Given the description of an element on the screen output the (x, y) to click on. 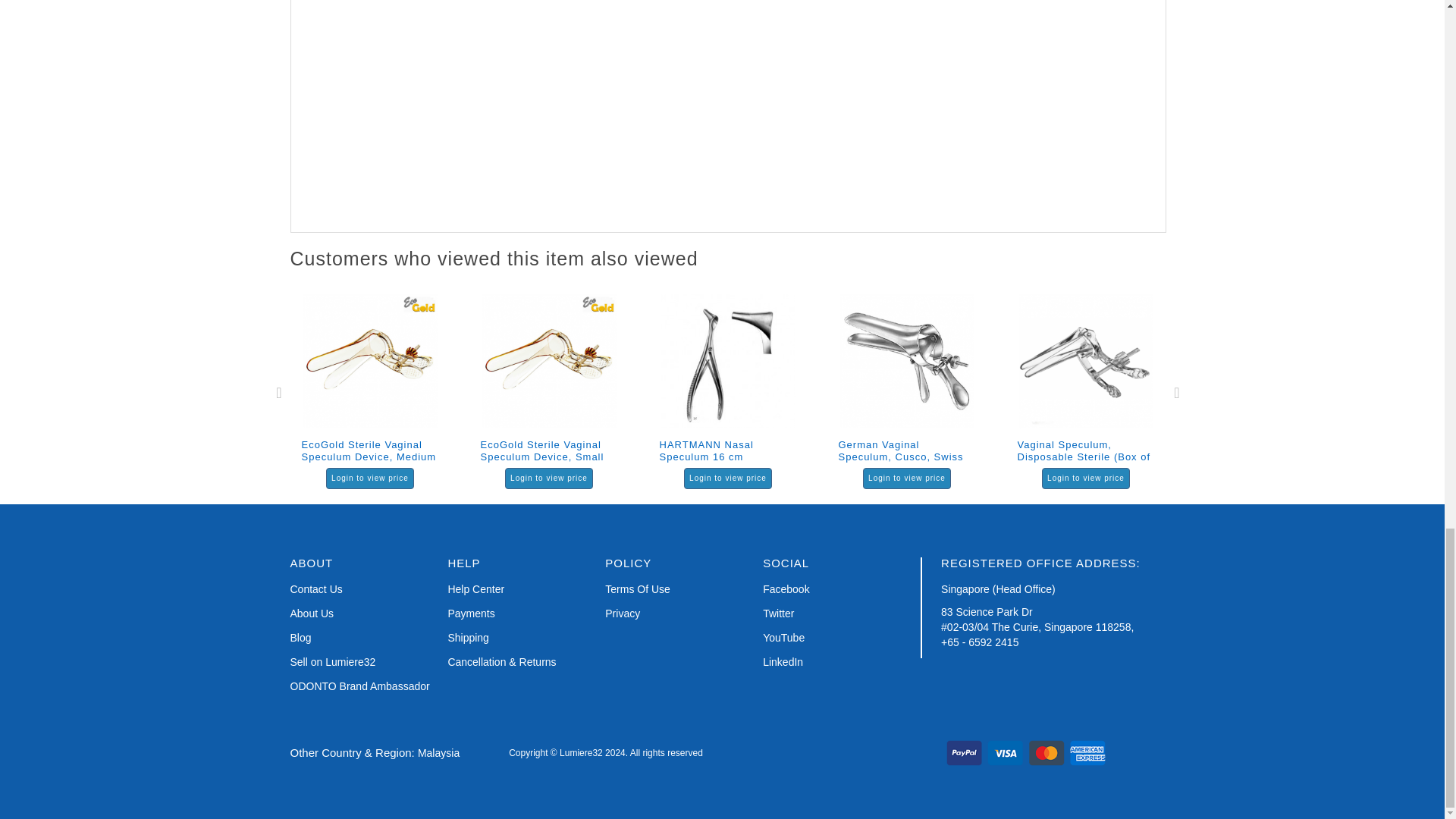
HARTMANN Nasal Speculum 16 cm (727, 361)
German Vaginal Speculum, Cusco, Swiss Pattern, Per Unit (907, 361)
YouTube video player (577, 106)
EcoGold Sterile Vaginal Speculum Device, Medium Pack (370, 361)
EcoGold Sterile Vaginal Speculum Device, Small Pack (548, 361)
